Given the description of an element on the screen output the (x, y) to click on. 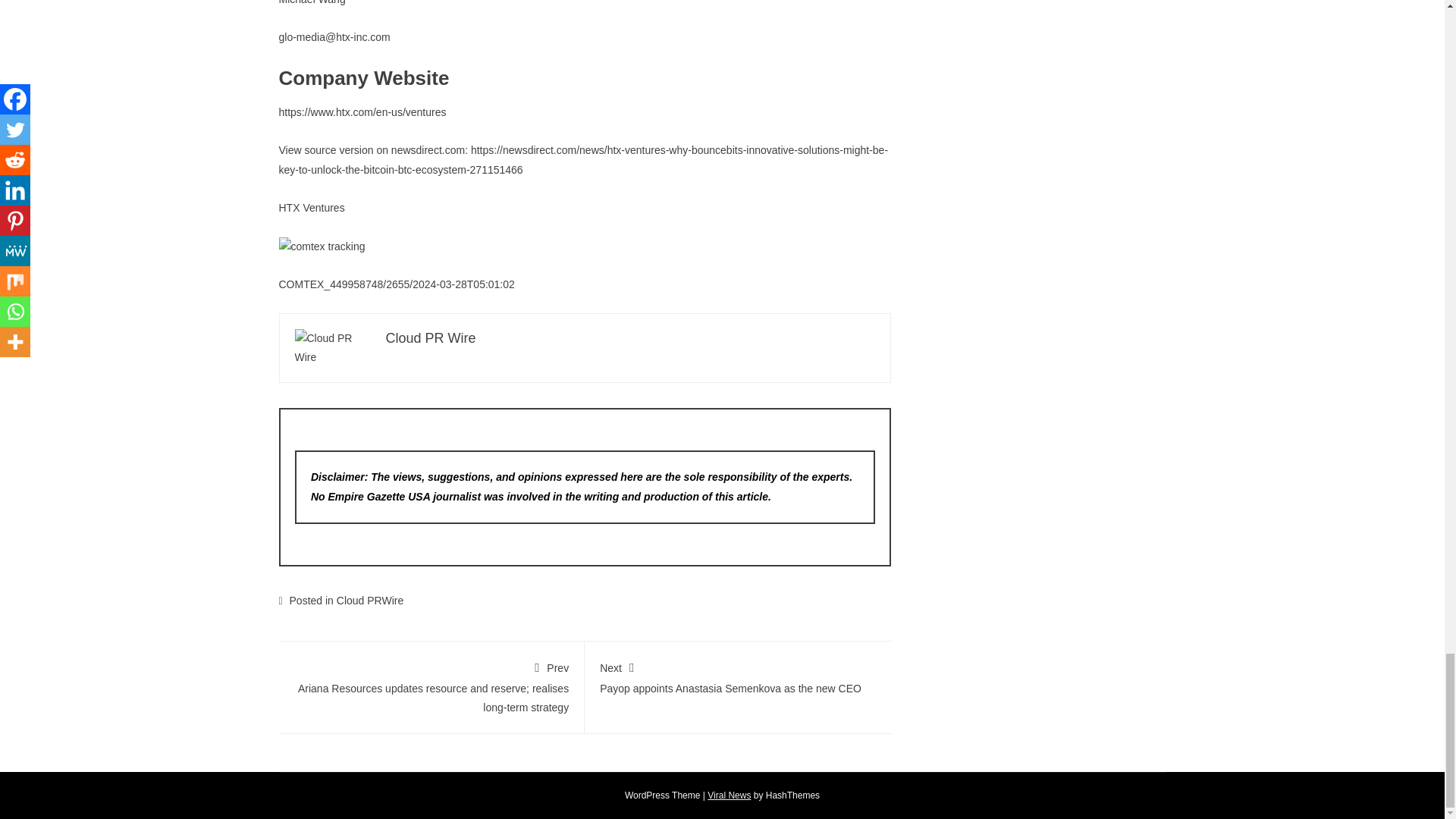
Cloud PR Wire (430, 337)
